Given the description of an element on the screen output the (x, y) to click on. 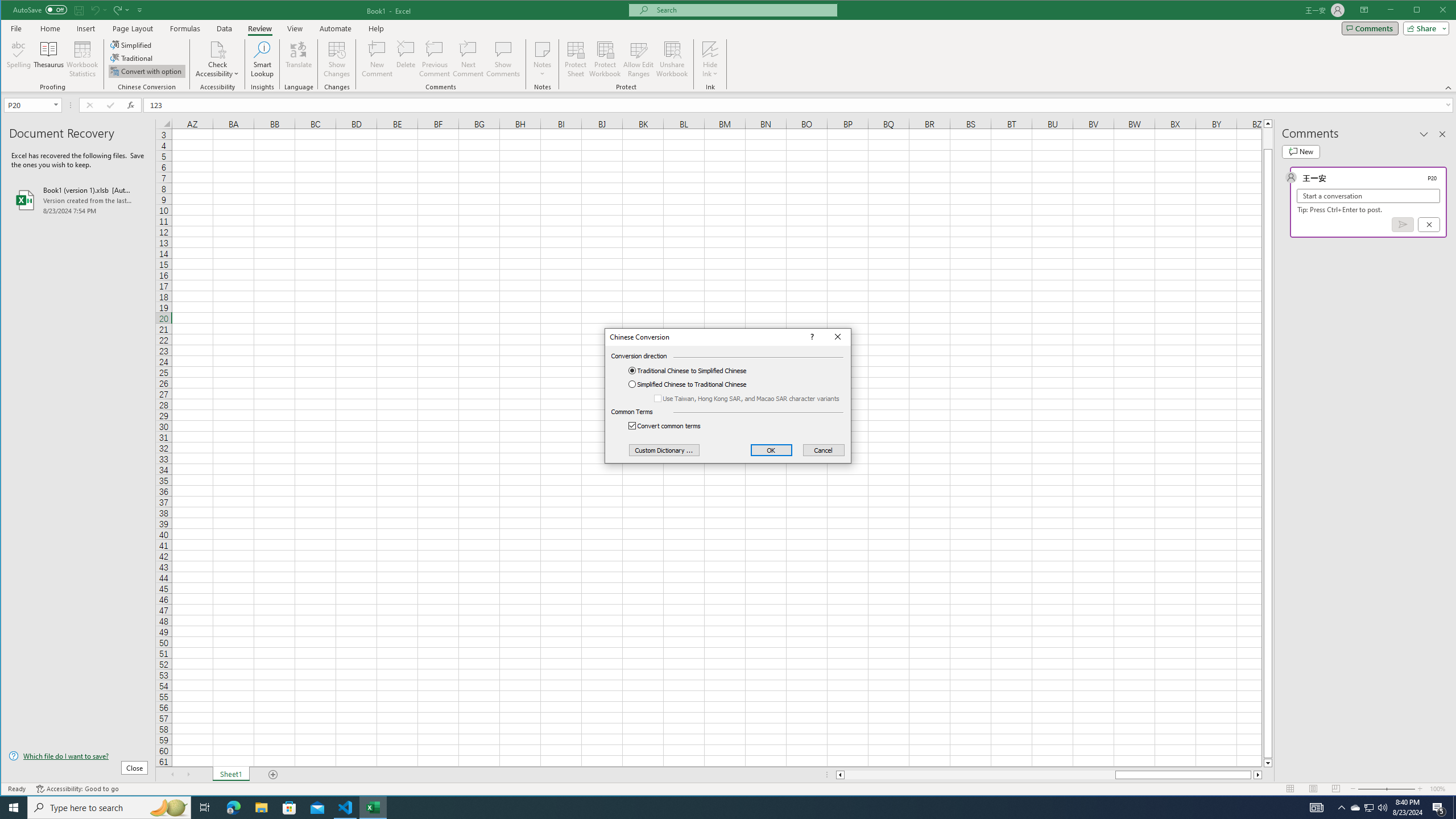
Protect Sheet... (575, 59)
Check Accessibility (217, 48)
Simplified Chinese to Traditional Chinese (696, 384)
Page left (979, 774)
Translate (298, 59)
Show desktop (1454, 807)
Excel - 1 running window (373, 807)
Delete (405, 59)
